Given the description of an element on the screen output the (x, y) to click on. 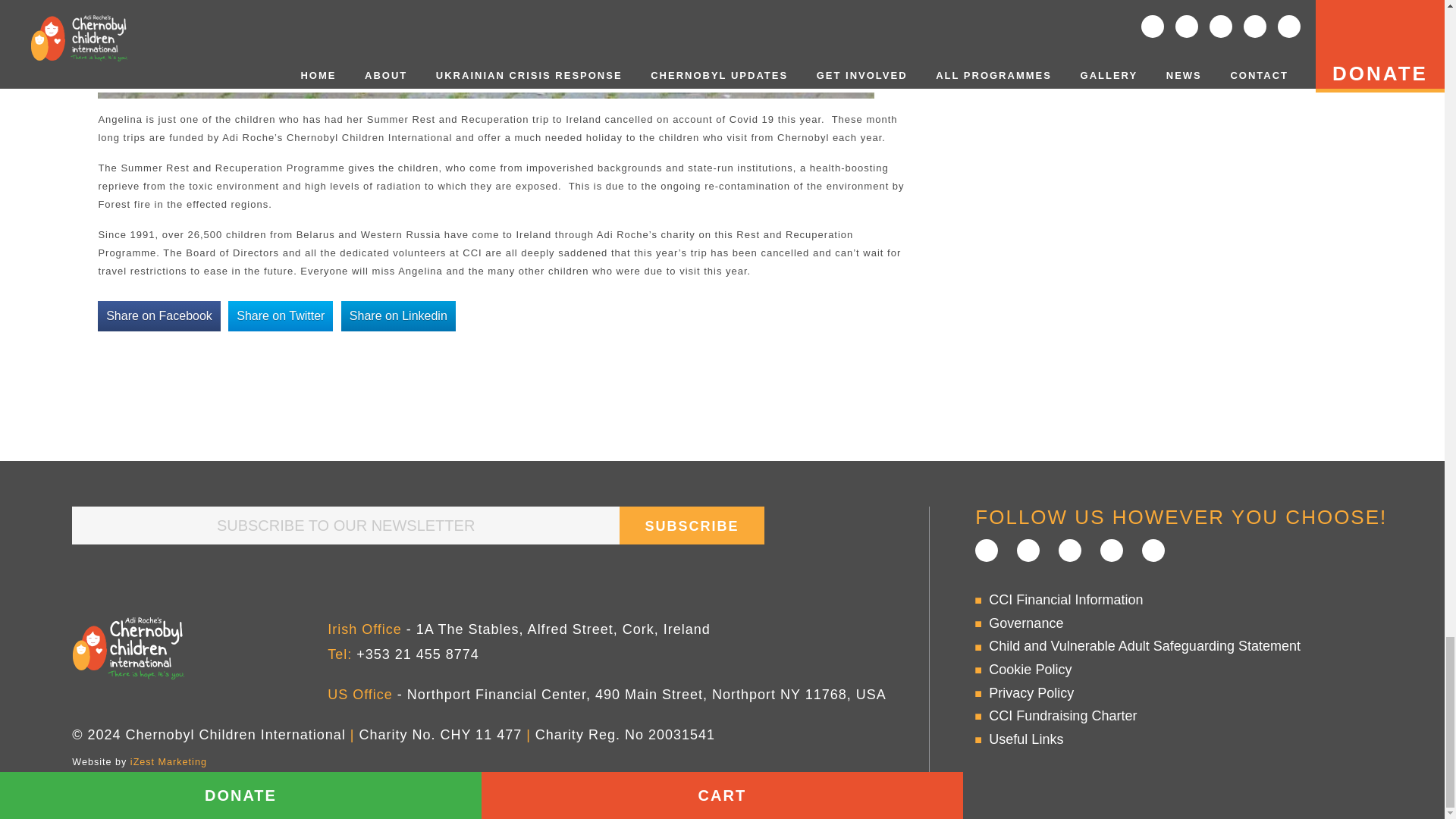
Instagram (1111, 549)
Facebook (986, 549)
Twitter (1027, 549)
Subscribe (692, 525)
Youtube (1152, 549)
LinkedIn (1069, 549)
